Given the description of an element on the screen output the (x, y) to click on. 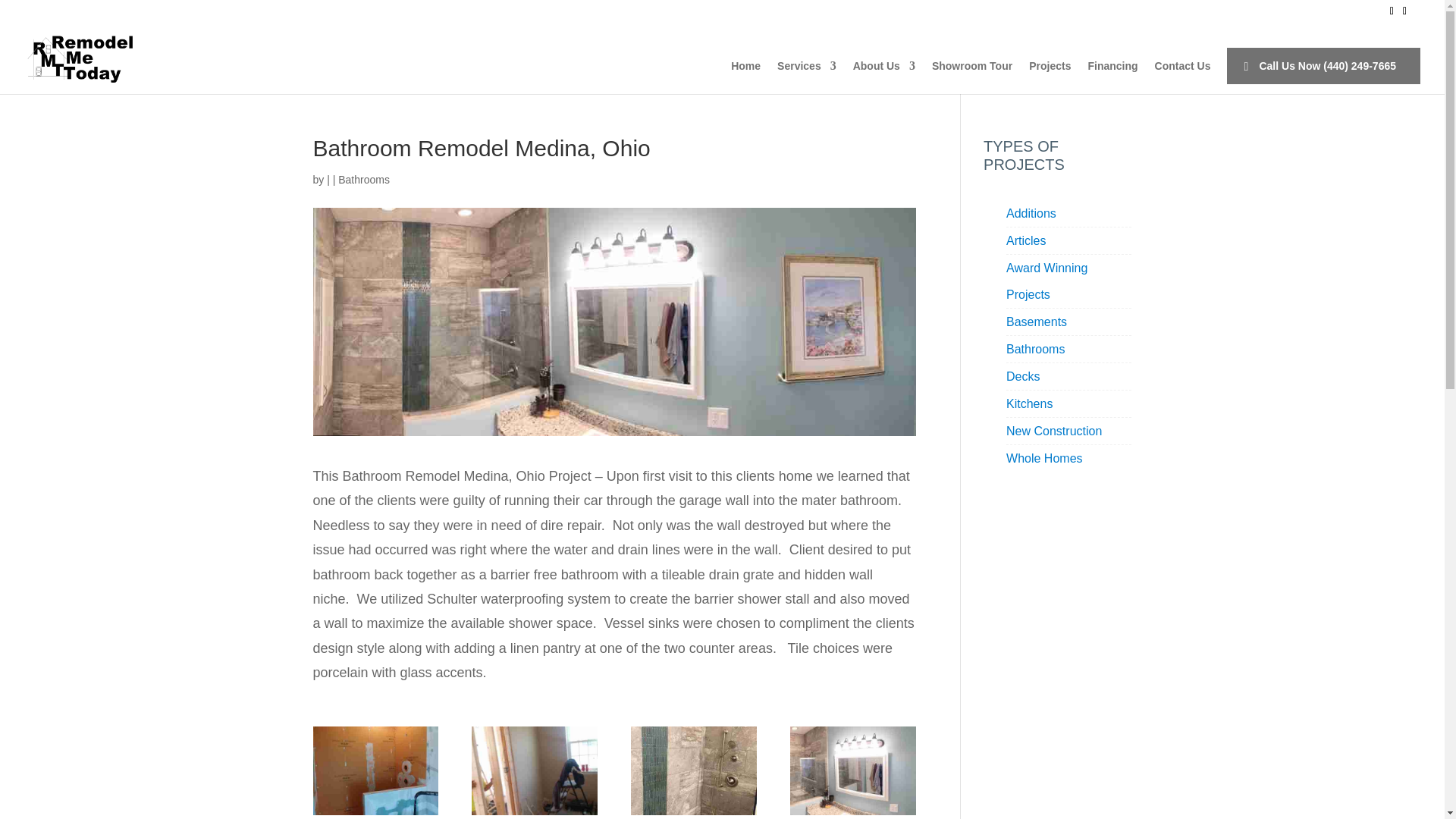
Top Rated Bathroom Remodeler Medina, Ohio 003 (693, 813)
Top Rated Bathroom Remodeler Medina, Ohio 002 (533, 813)
Top Rated Bathroom Remodeler Medina, Ohio 004 (852, 813)
Projects (1049, 77)
Financing (1112, 77)
About Us (884, 77)
Contact Us (1182, 77)
Top Rated Bathroom Remodeler Medina, Ohio 001 (375, 813)
Showroom Tour (971, 77)
Services (806, 77)
